Given the description of an element on the screen output the (x, y) to click on. 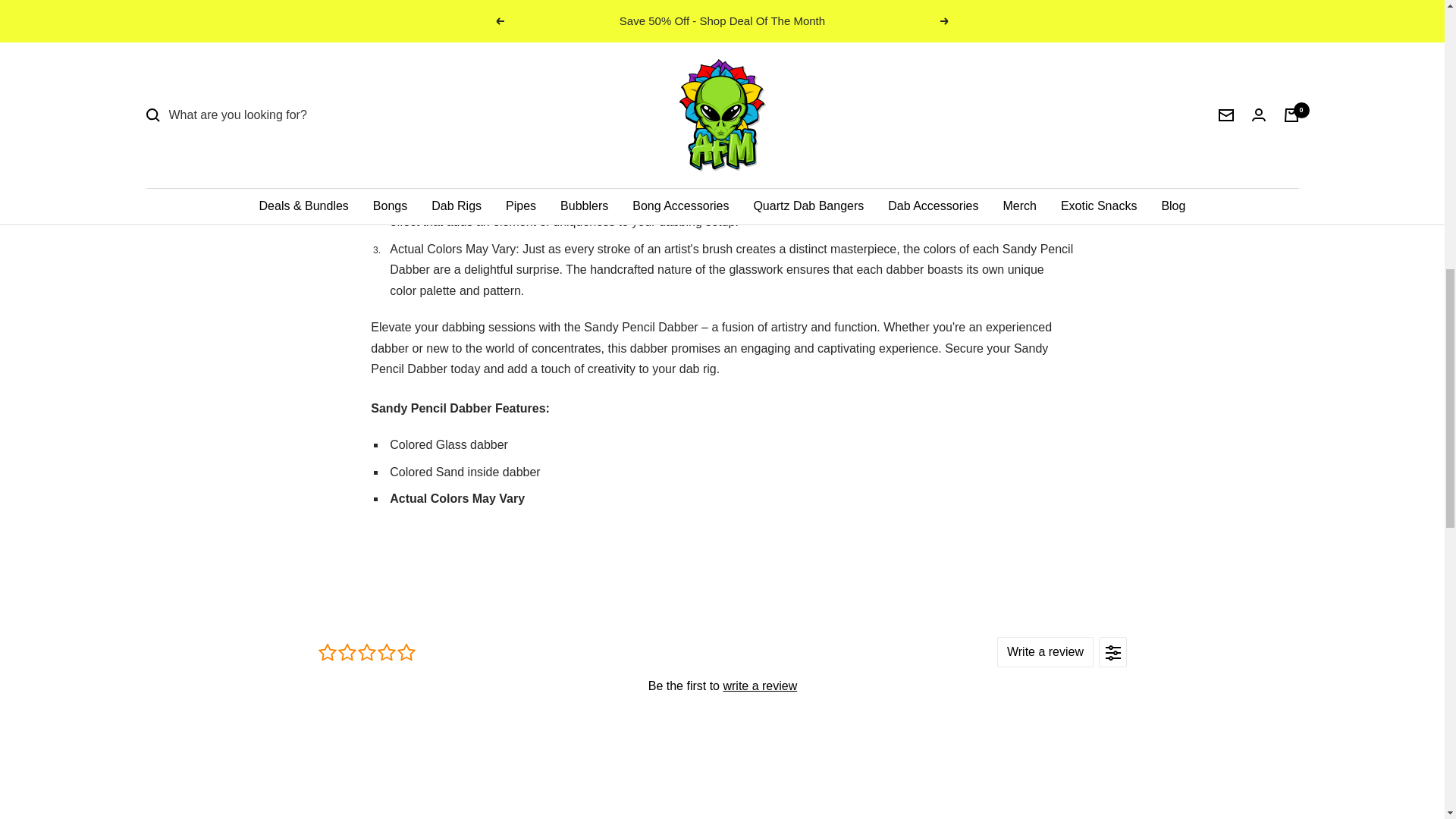
Product reviews widget (722, 684)
